Given the description of an element on the screen output the (x, y) to click on. 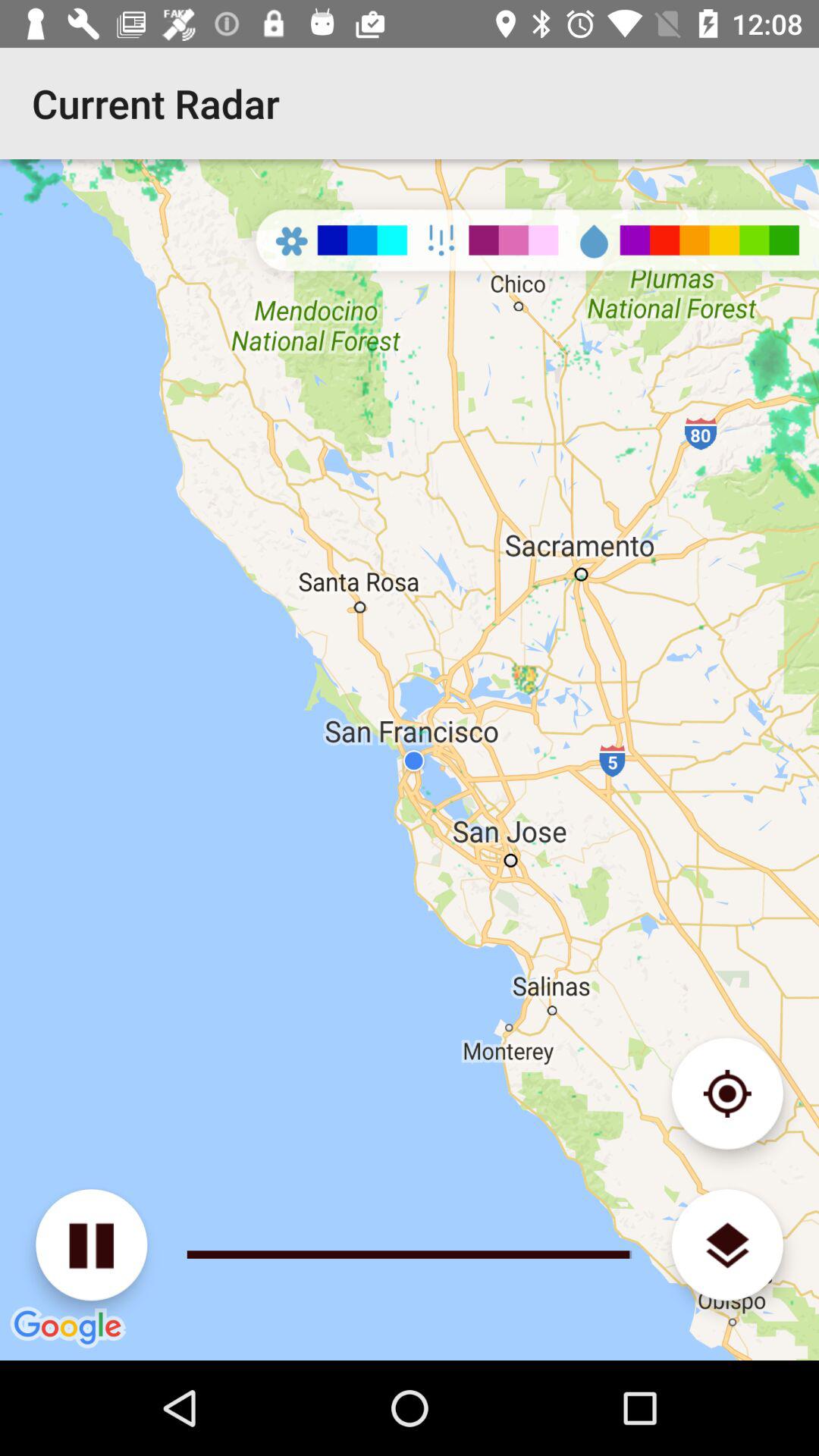
tap the icon below current radar (91, 1244)
